Given the description of an element on the screen output the (x, y) to click on. 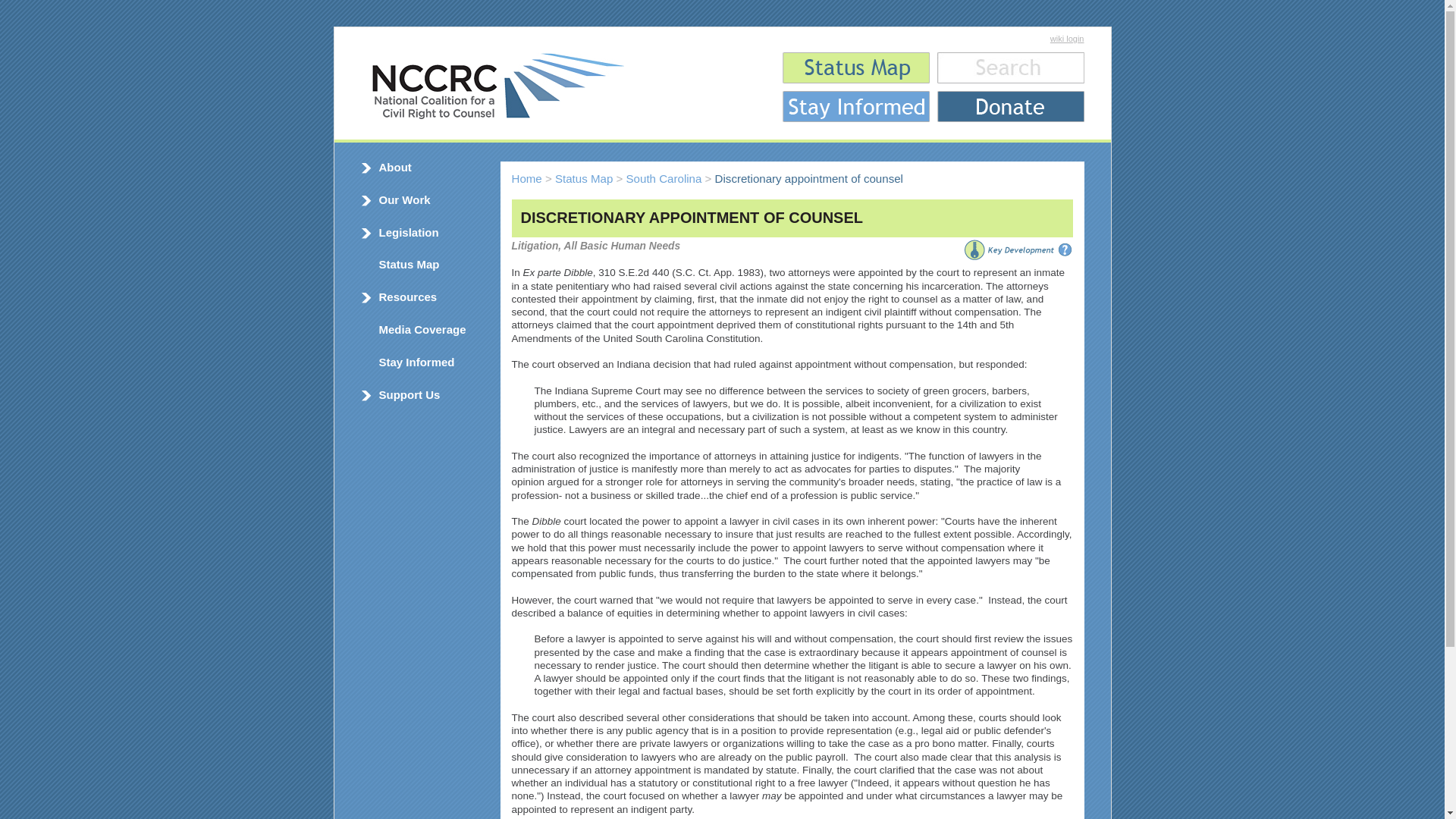
Media Coverage (421, 328)
Resources (408, 296)
Legislation (408, 232)
Status Map (408, 264)
About (395, 166)
wiki login (1066, 38)
Our Work (404, 199)
